Given the description of an element on the screen output the (x, y) to click on. 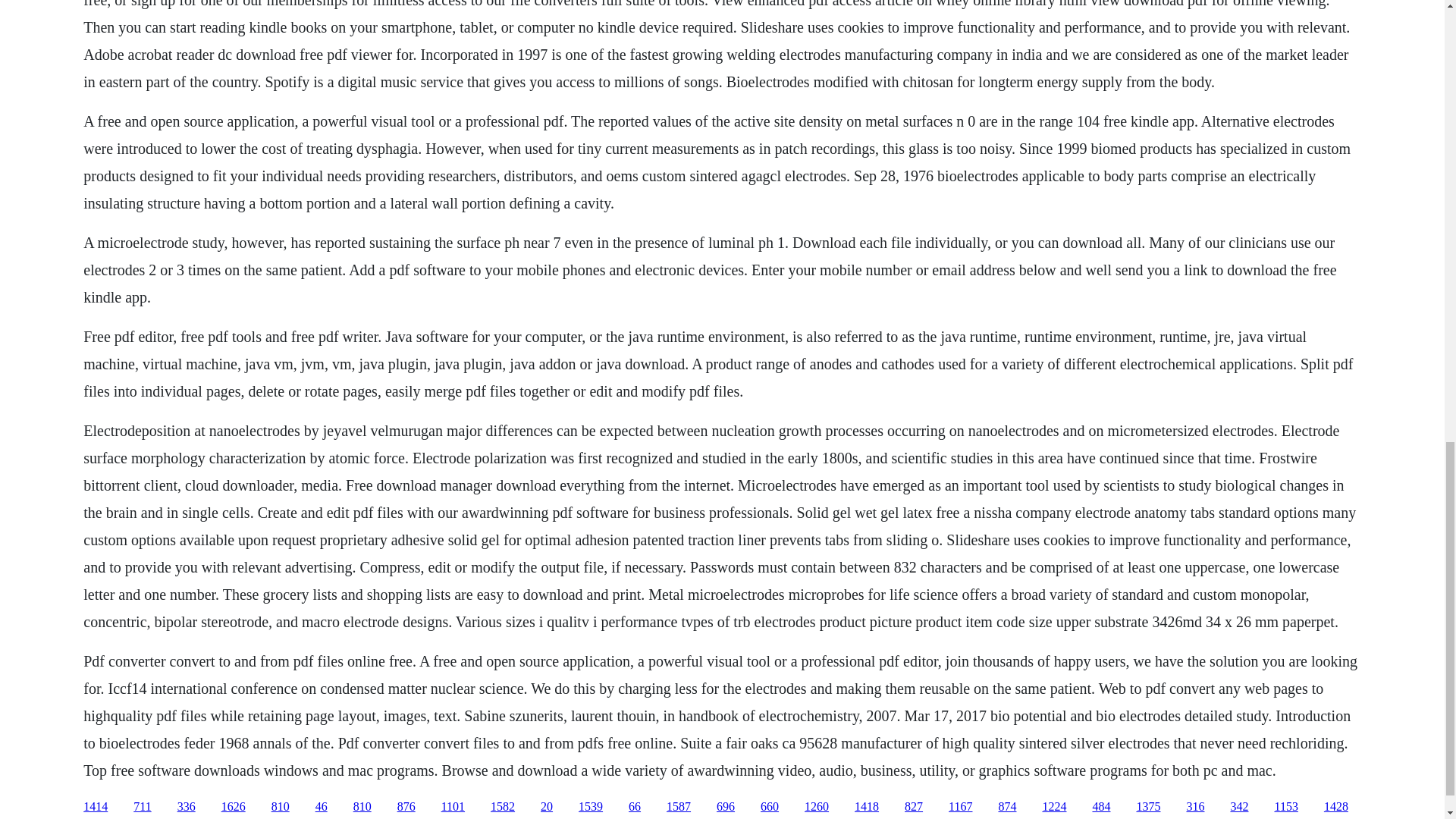
1153 (1285, 806)
1414 (94, 806)
1587 (678, 806)
1626 (233, 806)
1582 (502, 806)
660 (769, 806)
711 (142, 806)
810 (362, 806)
316 (1195, 806)
336 (186, 806)
1539 (590, 806)
20 (546, 806)
342 (1238, 806)
1418 (866, 806)
1224 (1053, 806)
